Given the description of an element on the screen output the (x, y) to click on. 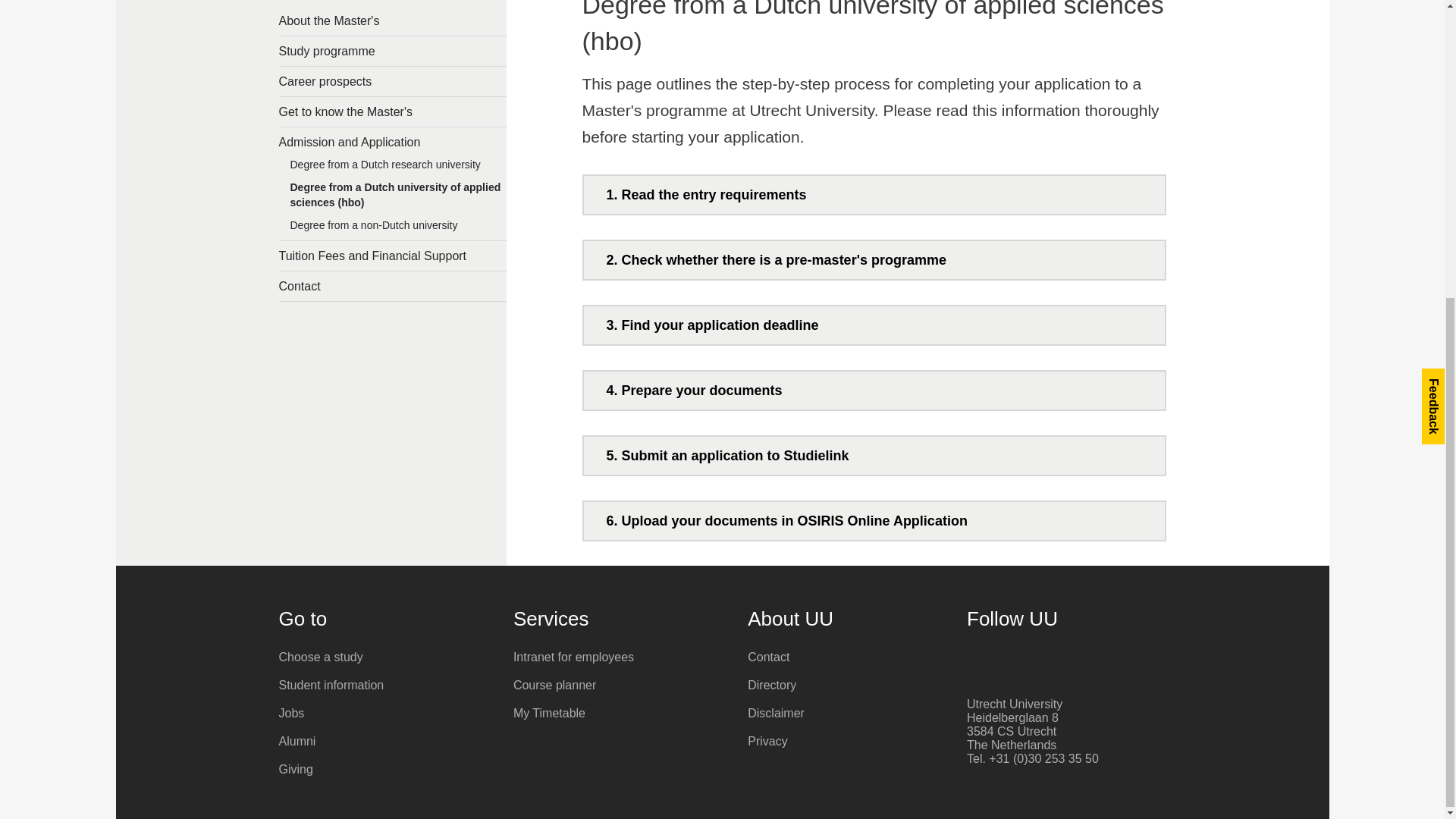
About the Master's (392, 20)
Degree from a Dutch research university (392, 168)
Get to know the Master's (392, 111)
4. Prepare your documents (873, 390)
2. Check whether there is a pre-master's programme (873, 259)
Tuition Fees and Financial Support (392, 255)
Admission and Application (392, 142)
Degree from a non-Dutch university (392, 228)
1. Read the entry requirements (873, 194)
Study programme (392, 51)
